Given the description of an element on the screen output the (x, y) to click on. 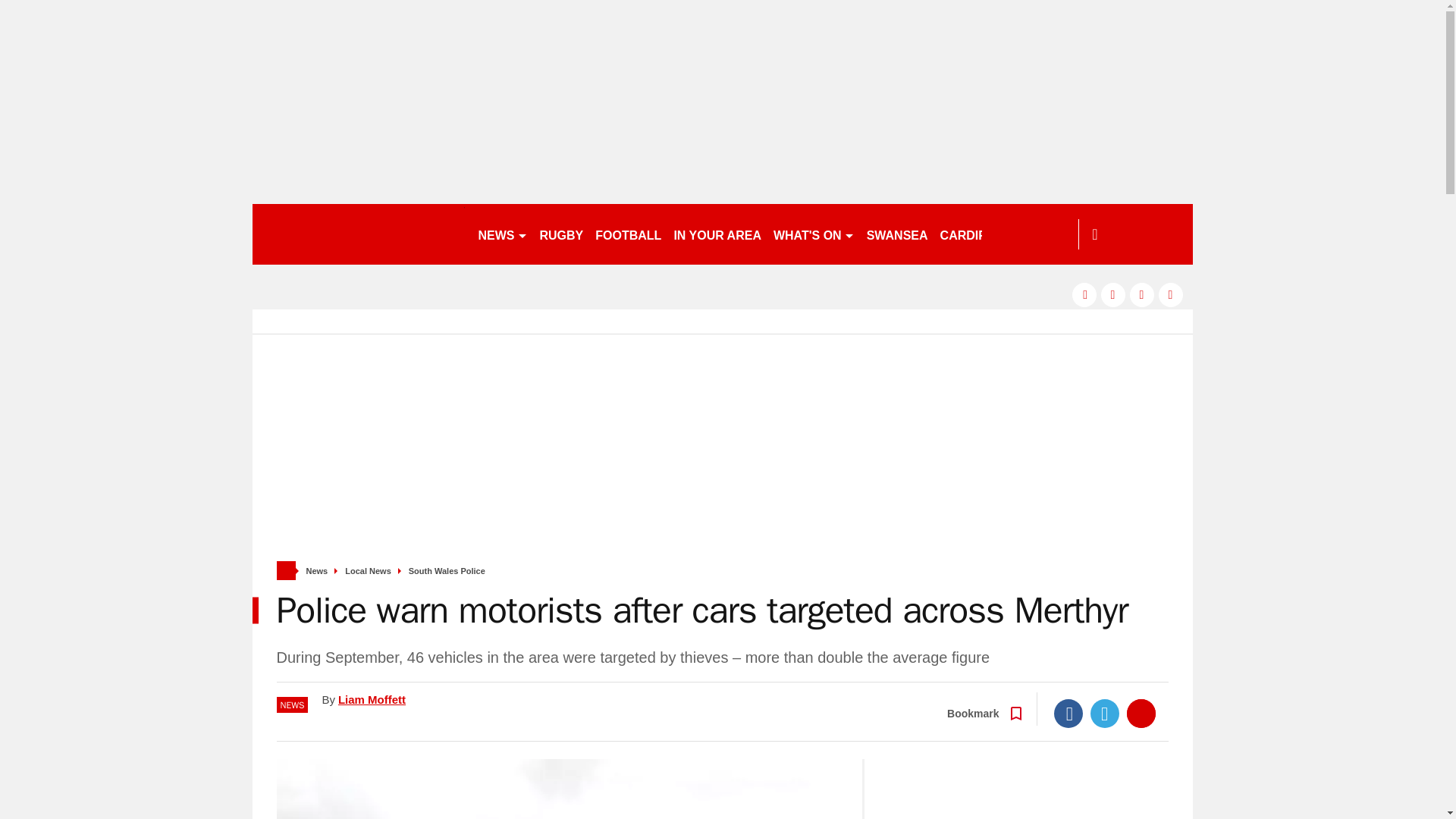
facebook (1083, 294)
pinterest (1141, 294)
FOOTBALL (627, 233)
SWANSEA (897, 233)
twitter (1112, 294)
NEWS (501, 233)
instagram (1170, 294)
Twitter (1104, 713)
IN YOUR AREA (716, 233)
Facebook (1068, 713)
RUGBY (561, 233)
walesonline (357, 233)
WHAT'S ON (813, 233)
